Given the description of an element on the screen output the (x, y) to click on. 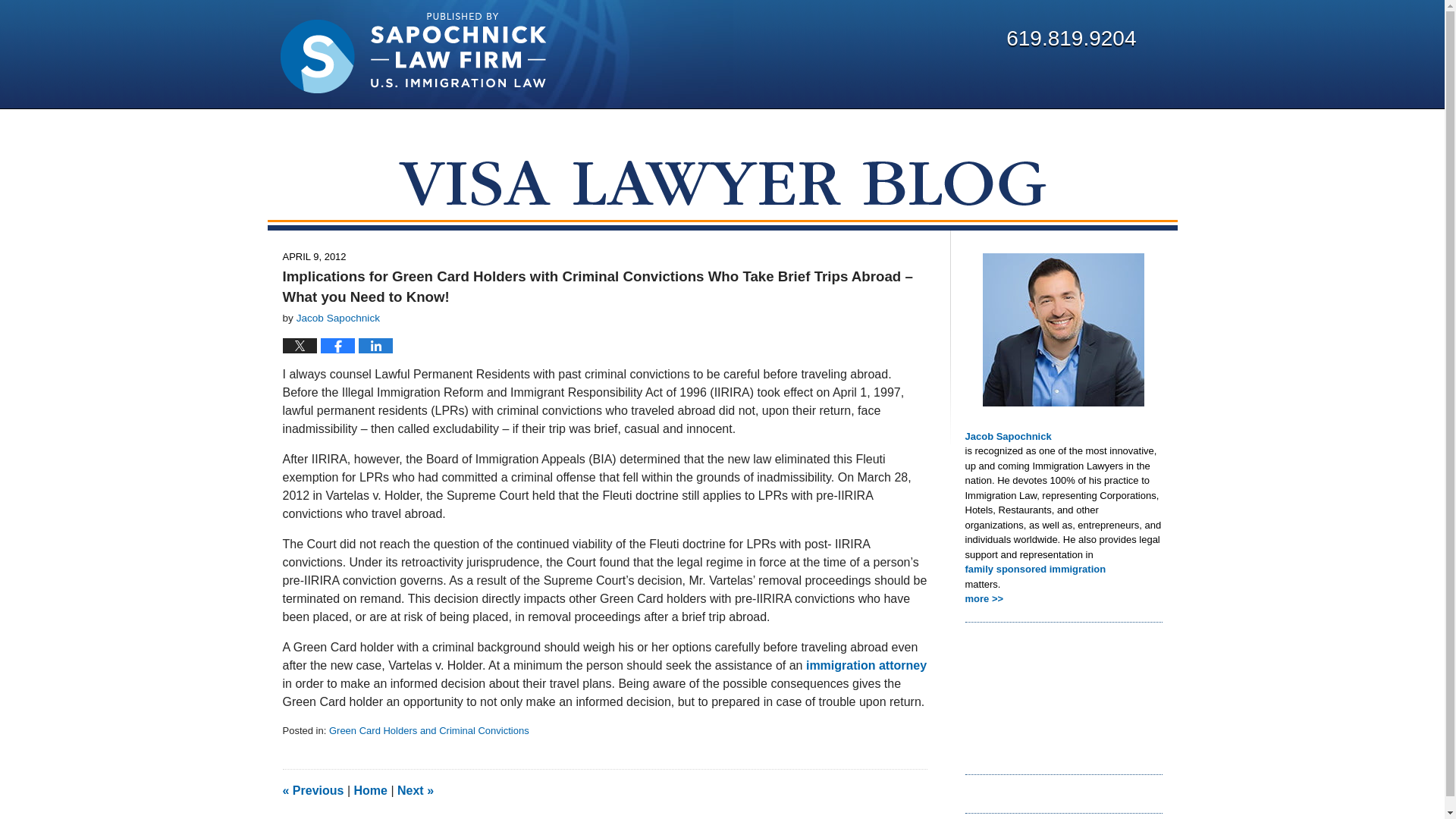
family sponsored immigration (1062, 569)
Jacob Sapochnick (1062, 436)
Home (370, 789)
Green Card Holders and Criminal Convictions (429, 730)
Jacob Sapochnick (338, 317)
immigration attorney (864, 665)
619.819.9204 (1070, 38)
Visa Lawyer Blog (413, 53)
After Jobs Act, Steve Case Turns His Focus to Immigration (415, 789)
